Given the description of an element on the screen output the (x, y) to click on. 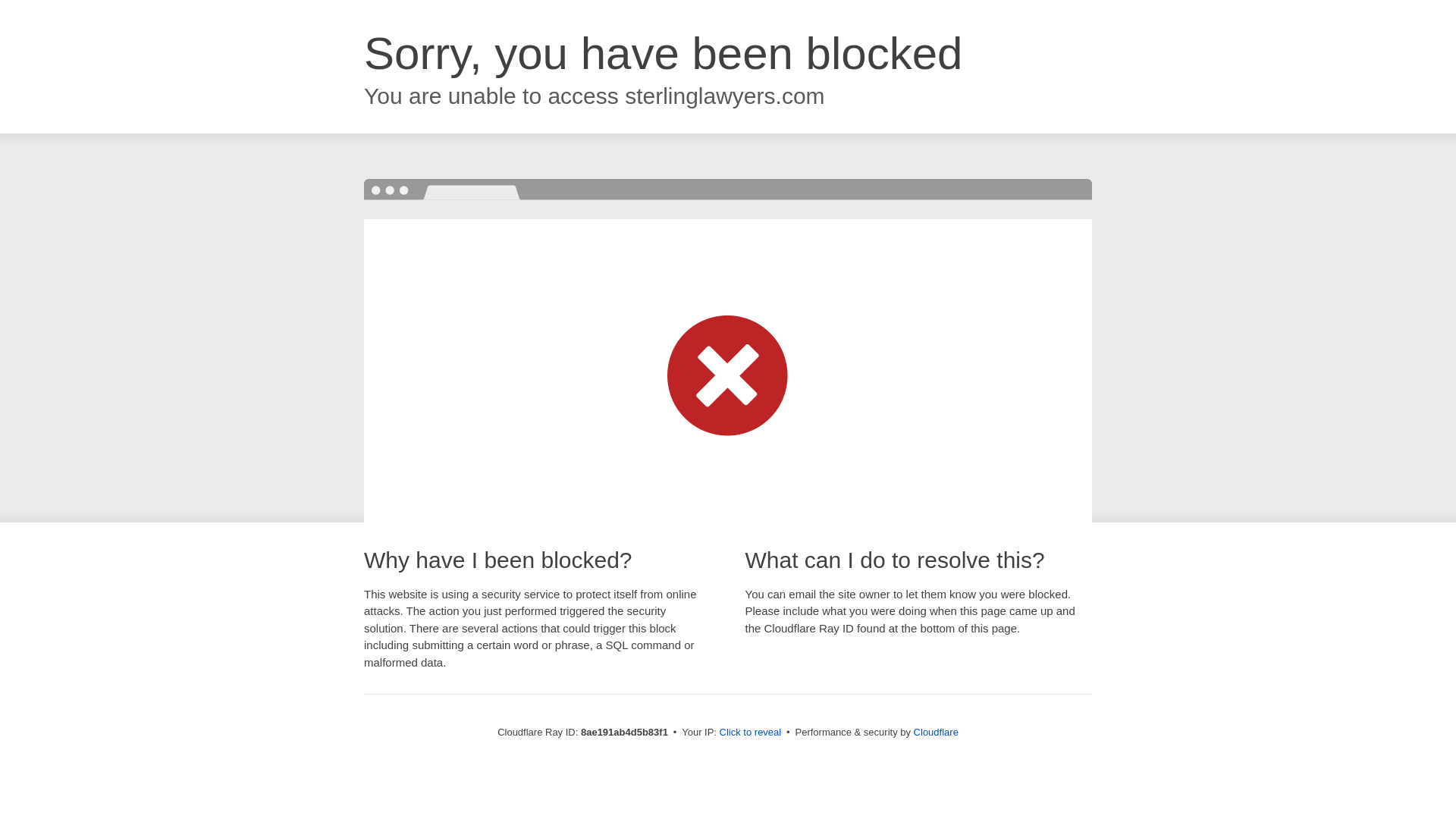
Cloudflare (936, 731)
Click to reveal (750, 732)
